Given the description of an element on the screen output the (x, y) to click on. 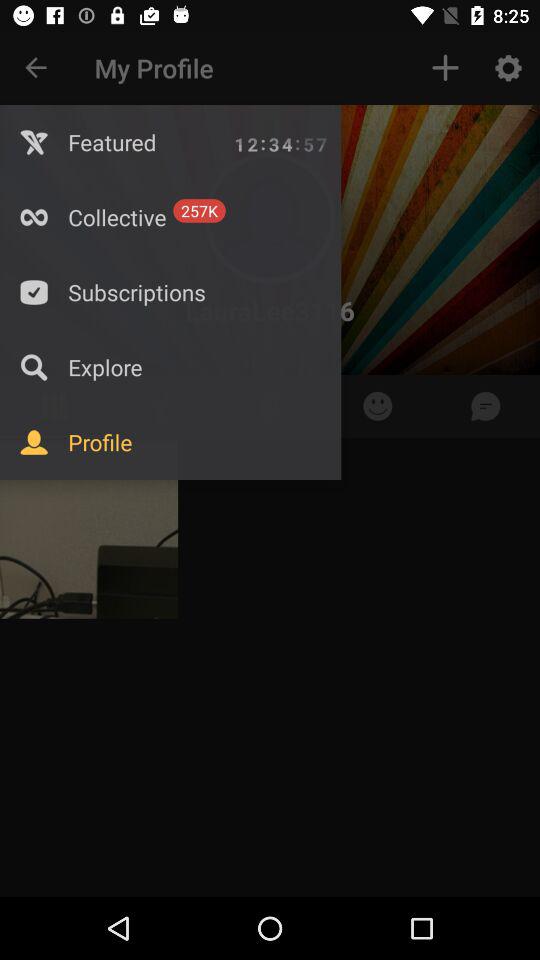
click the item next to my profile (36, 68)
